Given the description of an element on the screen output the (x, y) to click on. 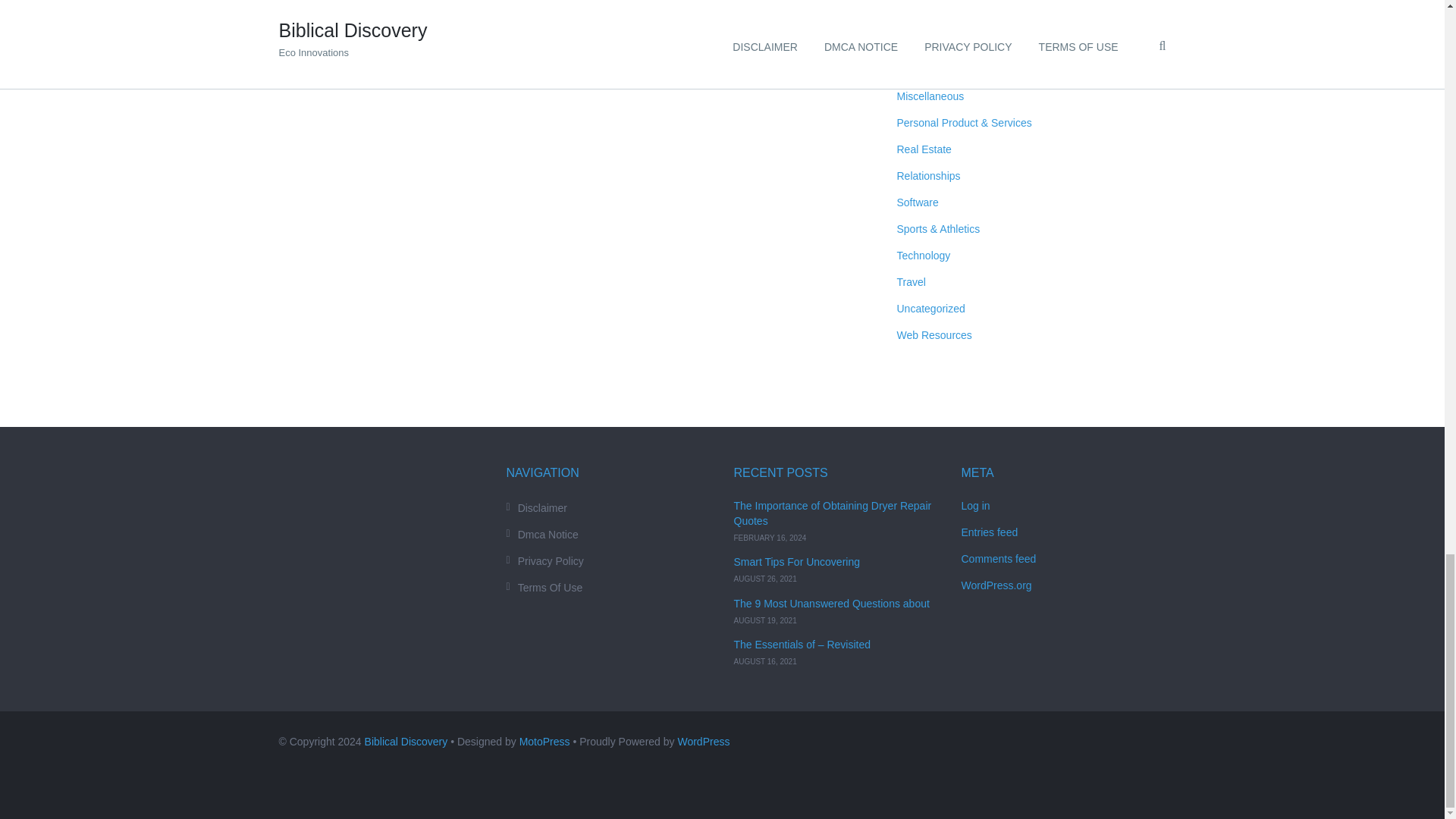
Premium WordPress Plugins and Themes (544, 741)
Semantic Personal Publishing Platform (703, 741)
Biblical Discovery (406, 741)
